Given the description of an element on the screen output the (x, y) to click on. 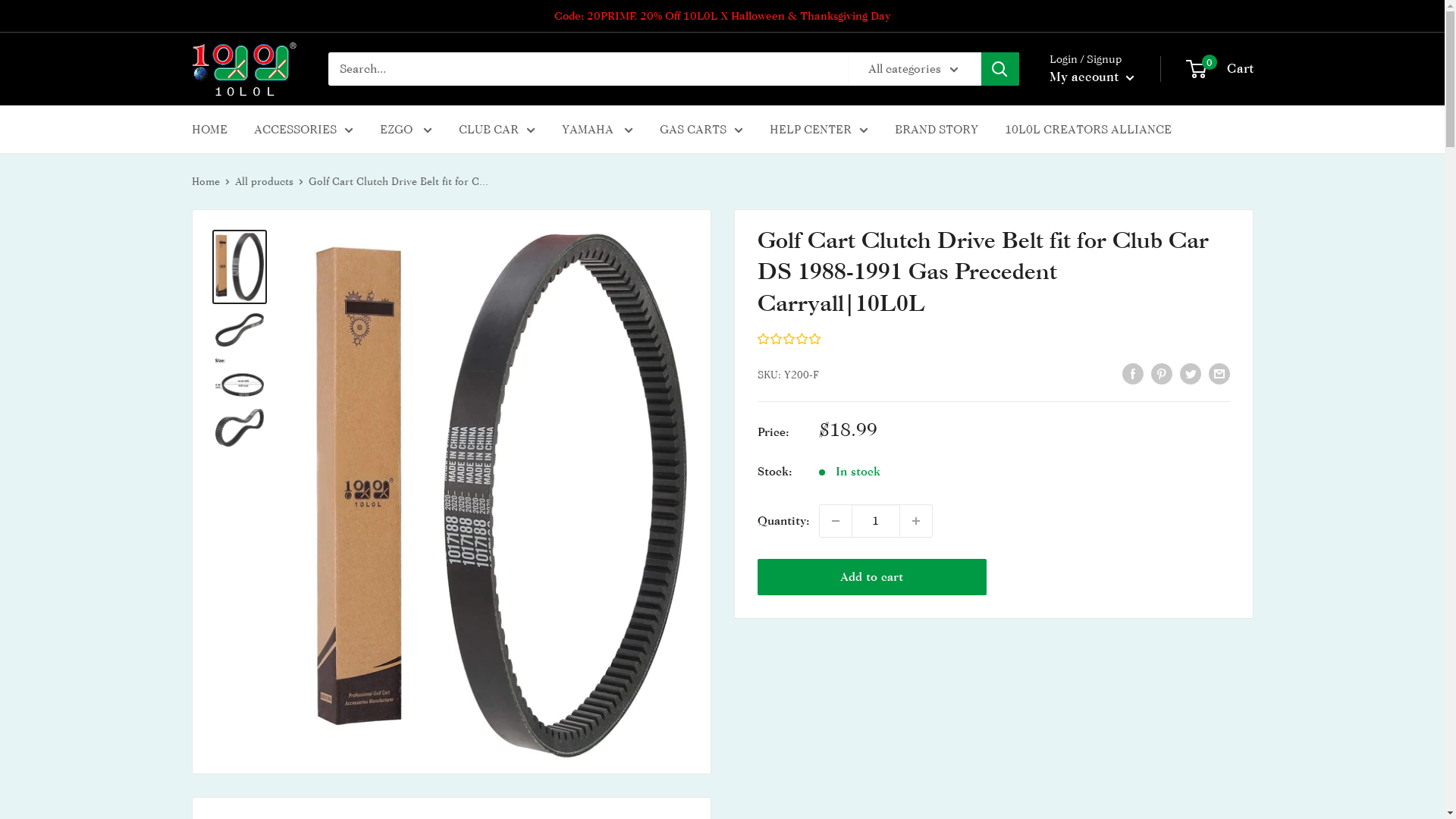
Decrease quantity by 1 Element type: hover (834, 520)
All products Element type: text (264, 180)
HELP CENTER Element type: text (817, 129)
Add to cart Element type: text (871, 576)
Increase quantity by 1 Element type: hover (915, 520)
Home Element type: text (205, 180)
Code: 20PRIME 20% Off 10L0L X Halloween & Thanksgiving Day Element type: text (721, 15)
10L0L Element type: text (244, 68)
HOME Element type: text (208, 129)
EZGO Element type: text (405, 129)
CLUB CAR Element type: text (496, 129)
0
Cart Element type: text (1220, 68)
GAS CARTS Element type: text (701, 129)
10L0L CREATORS ALLIANCE Element type: text (1087, 129)
My account Element type: text (1091, 77)
BRAND STORY Element type: text (936, 129)
YAMAHA Element type: text (596, 129)
ACCESSORIES Element type: text (302, 129)
